Given the description of an element on the screen output the (x, y) to click on. 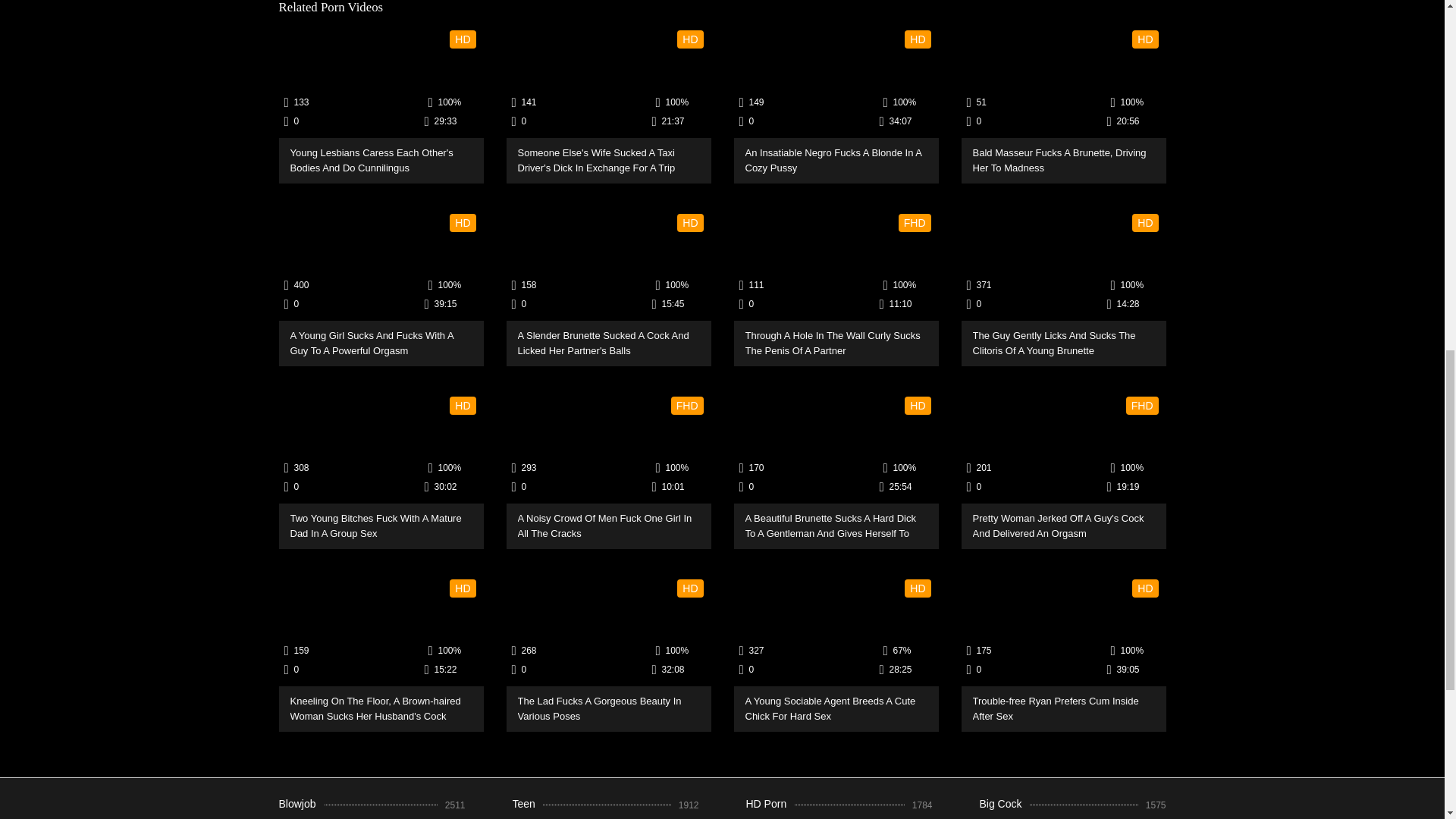
Bald Masseur Fucks A Brunette, Driving Her To Madness (1063, 81)
A Young Girl Sucks And Fucks With A Guy To A Powerful Orgasm (381, 265)
Young Lesbians Caress Each Other's Bodies And Do Cunnilingus (381, 81)
An Insatiable Negro Fucks A Blonde In A Cozy Pussy (836, 81)
